Given the description of an element on the screen output the (x, y) to click on. 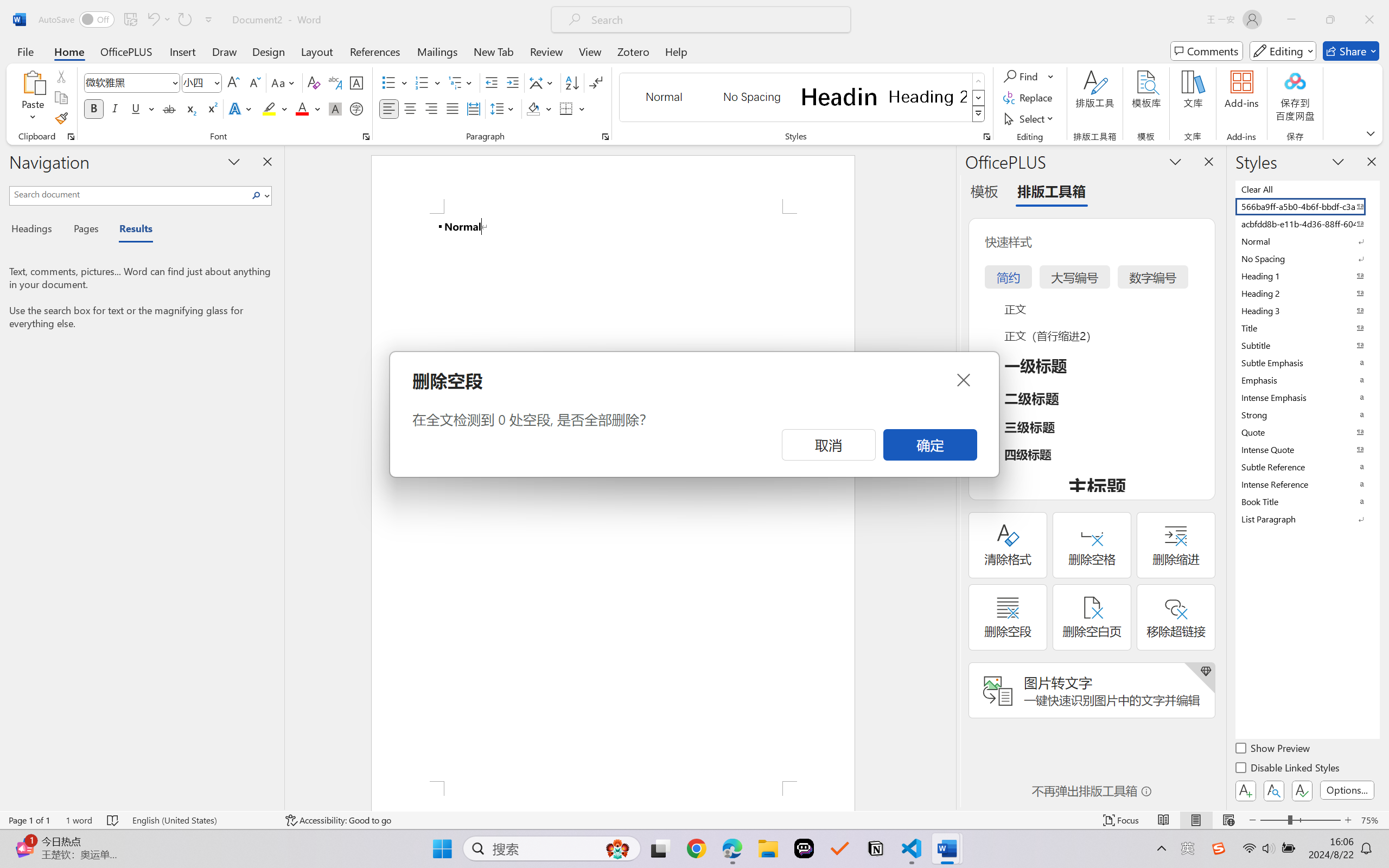
Close (962, 379)
AutomationID: QuickStylesGallery (802, 97)
Task Pane Options (1175, 161)
Strikethrough (169, 108)
Subtle Emphasis (1306, 362)
Google Chrome (696, 848)
Share (1350, 51)
Increase Indent (512, 82)
Subtitle (1306, 345)
Class: Image (1218, 847)
Home (69, 51)
Character Shading (334, 108)
Intense Quote (1306, 449)
Quote (1306, 431)
